Given the description of an element on the screen output the (x, y) to click on. 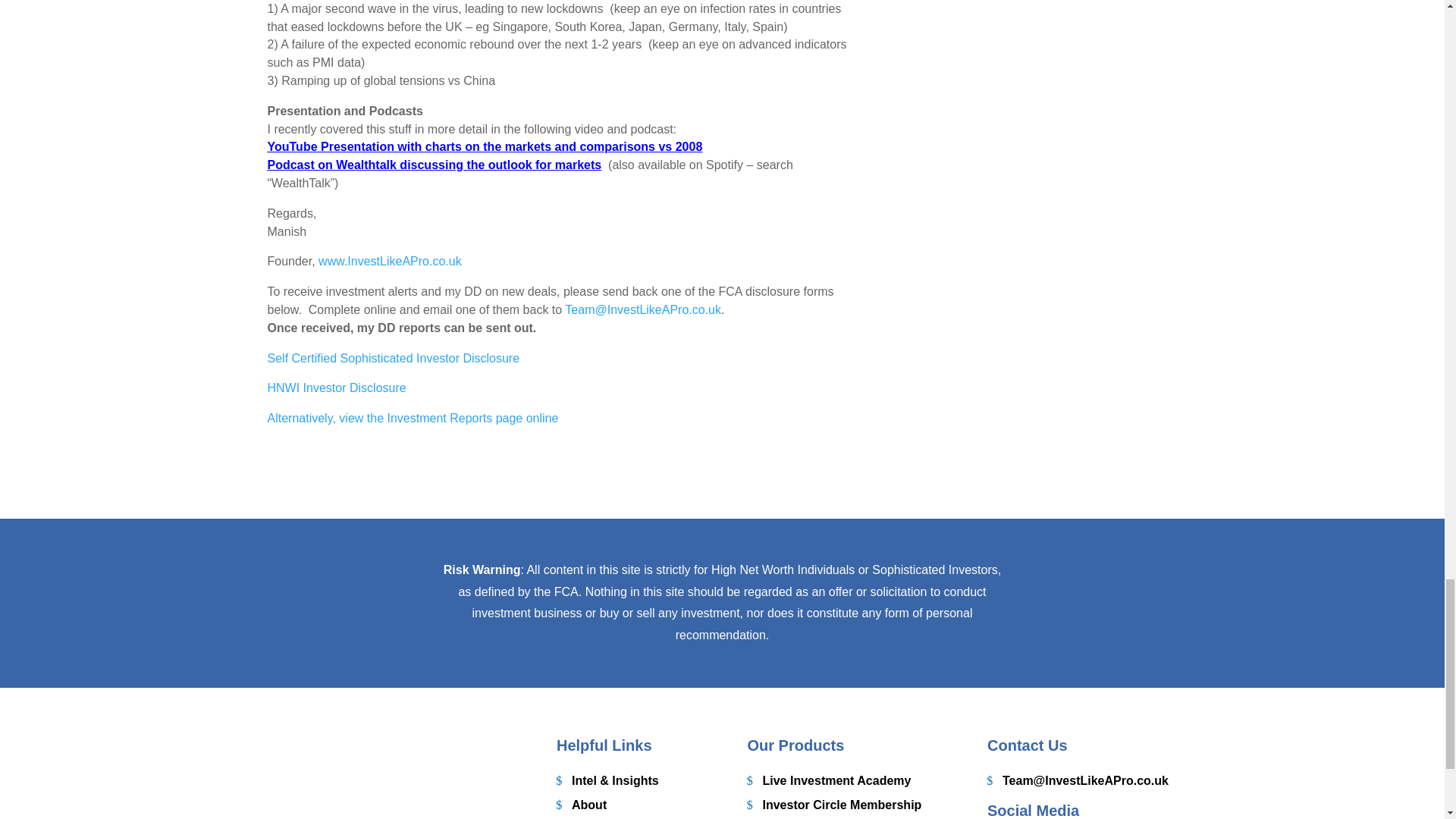
Live Investment Academy (829, 778)
charts on the markets and comparisons vs 2008 (563, 146)
Core Mini- Academy (813, 816)
Podcast on Wealthtalk discussing the outlook for markets (433, 164)
HNWI Investor Disclosure (336, 387)
Investing (590, 816)
About (581, 802)
Investor Circle Membership (834, 802)
www.InvestLikeAPro.co.uk (389, 260)
Alternatively, view the Investment Reports page online (411, 418)
Self Certified Sophisticated Investor Disclosure (392, 358)
YouTube Presentation with  (345, 146)
